Given the description of an element on the screen output the (x, y) to click on. 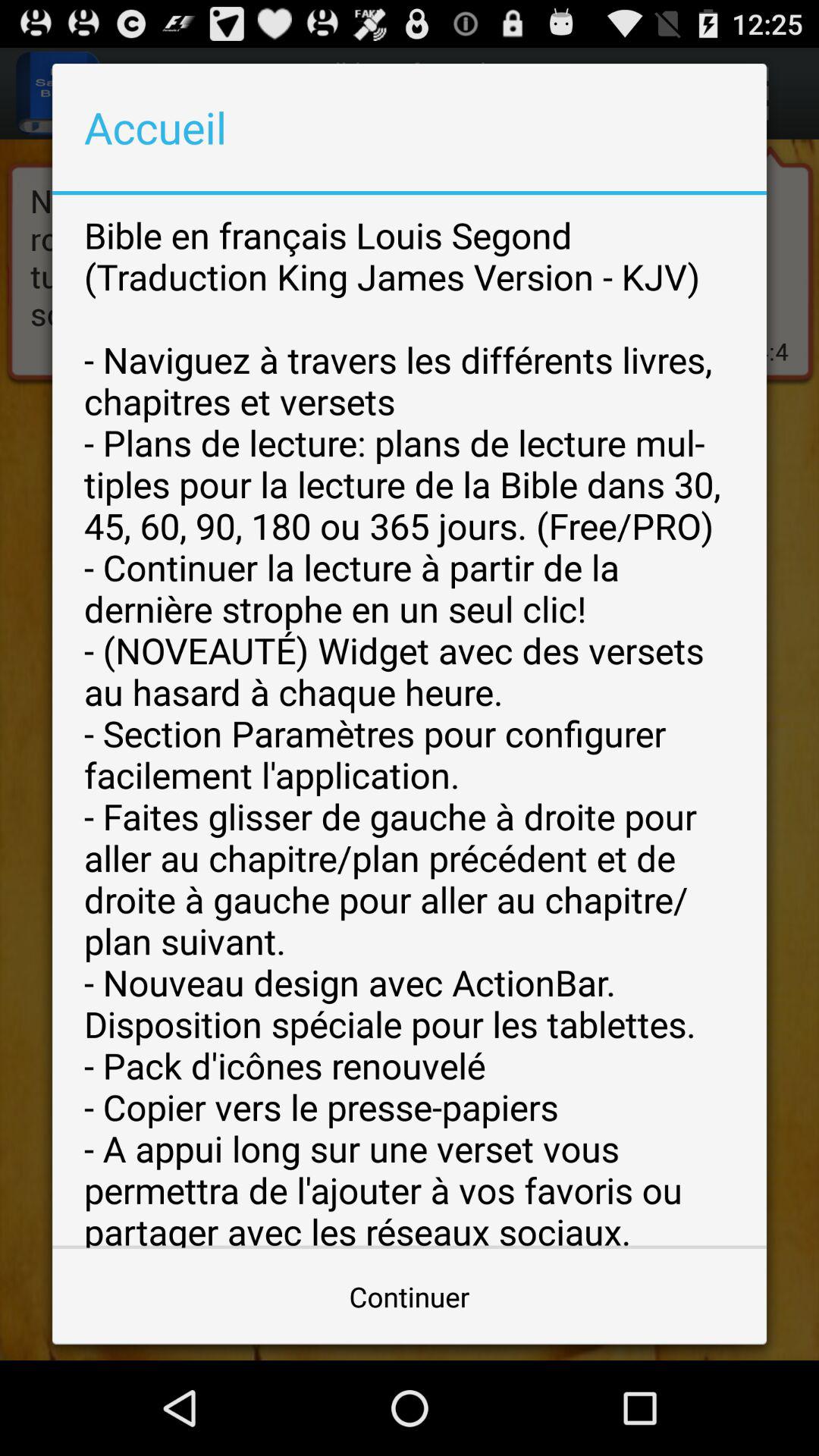
turn on continuer button (409, 1296)
